Given the description of an element on the screen output the (x, y) to click on. 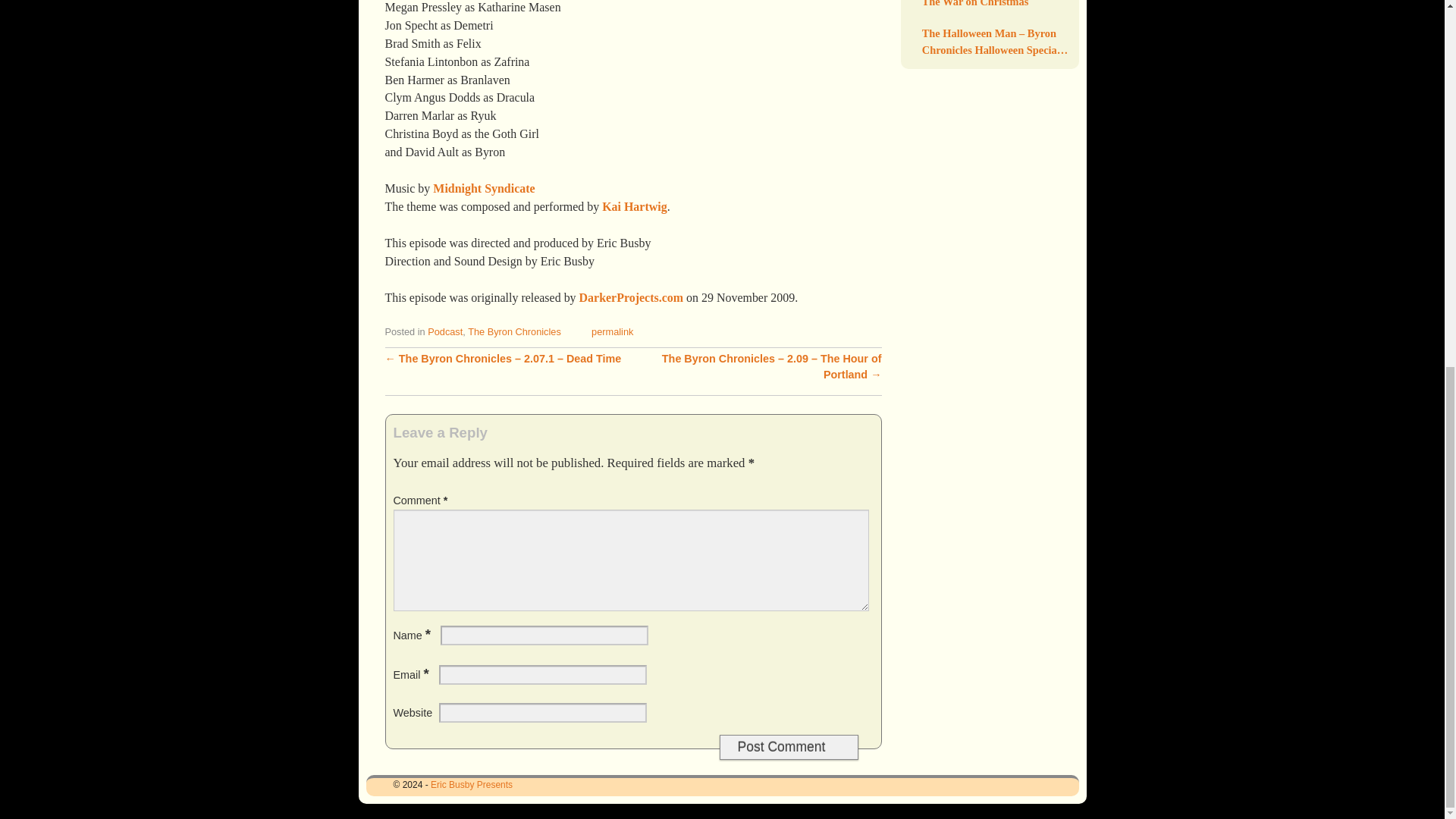
Podcast (445, 331)
Midnight Syndicate (483, 187)
The War on Christmas (995, 5)
Eric Busby Presents (471, 784)
permalink (612, 331)
Eric Busby Presents (471, 784)
Post Comment (788, 747)
DarkerProjects.com (630, 297)
Post Comment (788, 747)
The Byron Chronicles (513, 331)
